Given the description of an element on the screen output the (x, y) to click on. 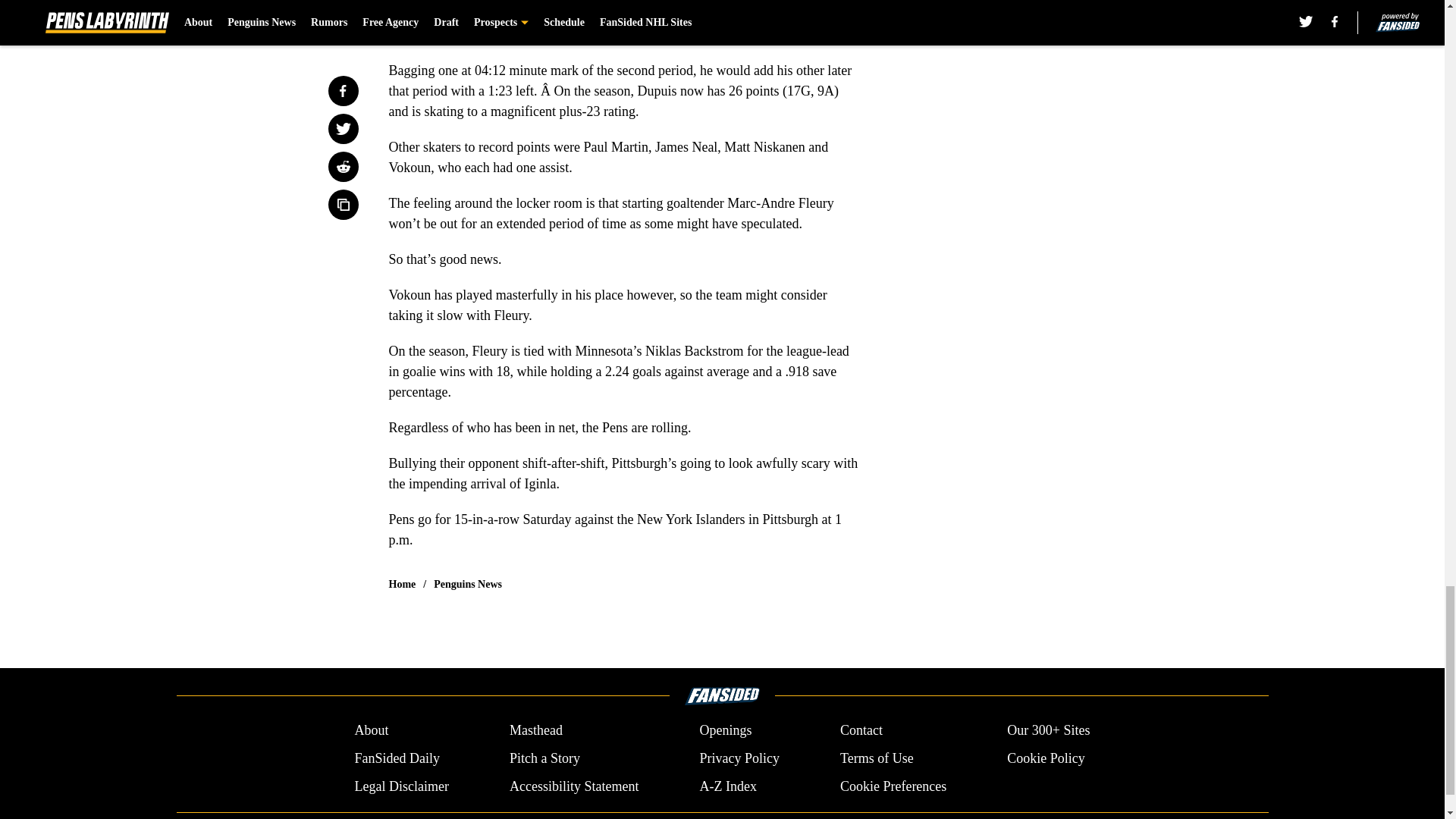
Legal Disclaimer (400, 786)
Pitch a Story (544, 758)
FanSided Daily (396, 758)
Masthead (535, 730)
Cookie Preferences (893, 786)
Home (401, 584)
Contact (861, 730)
About (370, 730)
Penguins News (467, 584)
Privacy Policy (738, 758)
Openings (724, 730)
Accessibility Statement (574, 786)
A-Z Index (726, 786)
Terms of Use (877, 758)
Cookie Policy (1045, 758)
